Given the description of an element on the screen output the (x, y) to click on. 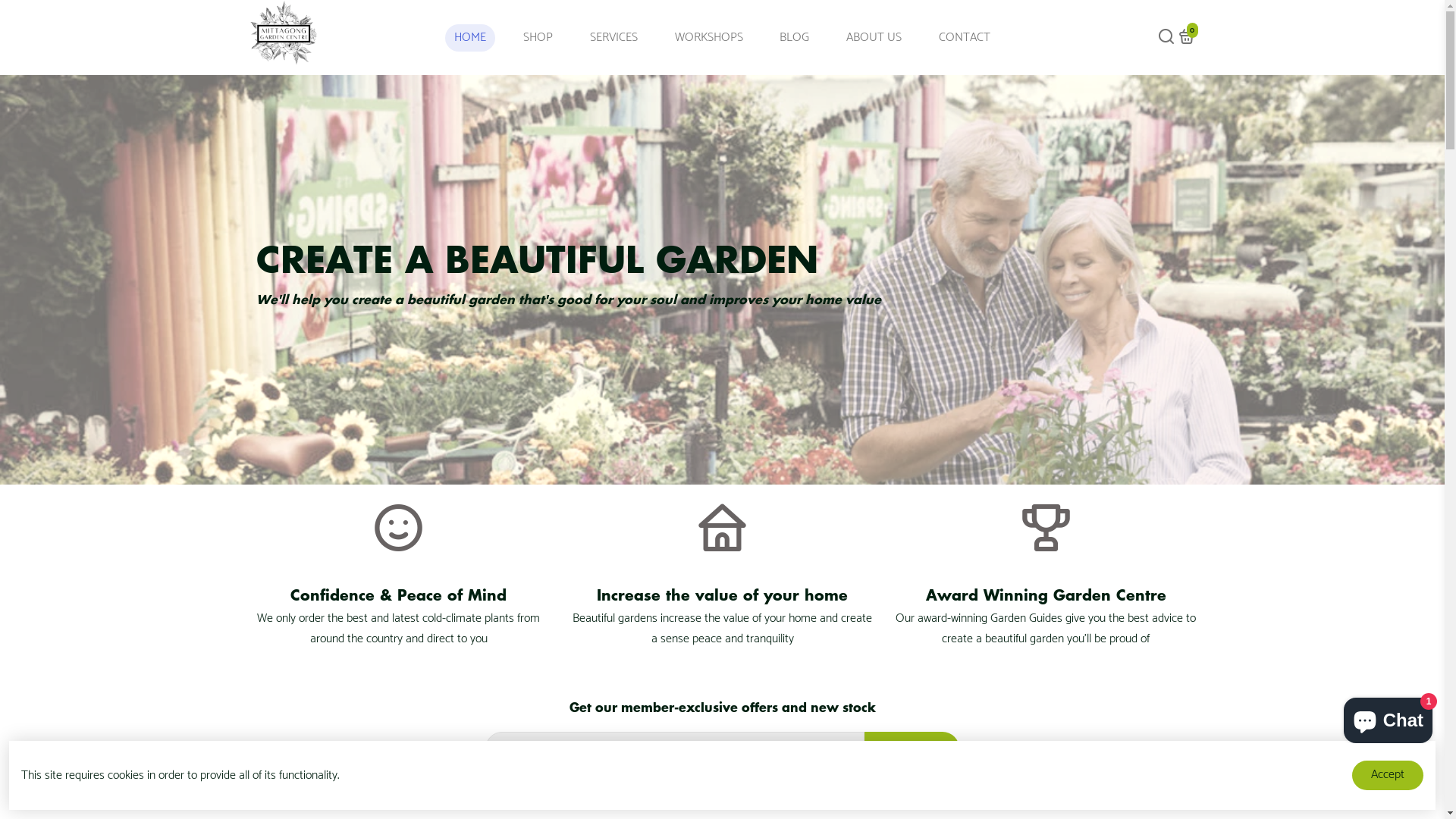
SUBSCRIBE Element type: text (911, 748)
SHOP Element type: text (537, 37)
ABOUT US Element type: text (873, 37)
Accept Element type: text (1387, 774)
CONTACT Element type: text (964, 37)
WORKSHOPS Element type: text (708, 37)
BLOG Element type: text (794, 37)
HOME Element type: text (470, 37)
Shopify online store chat Element type: hover (1388, 717)
SERVICES Element type: text (613, 37)
